Given the description of an element on the screen output the (x, y) to click on. 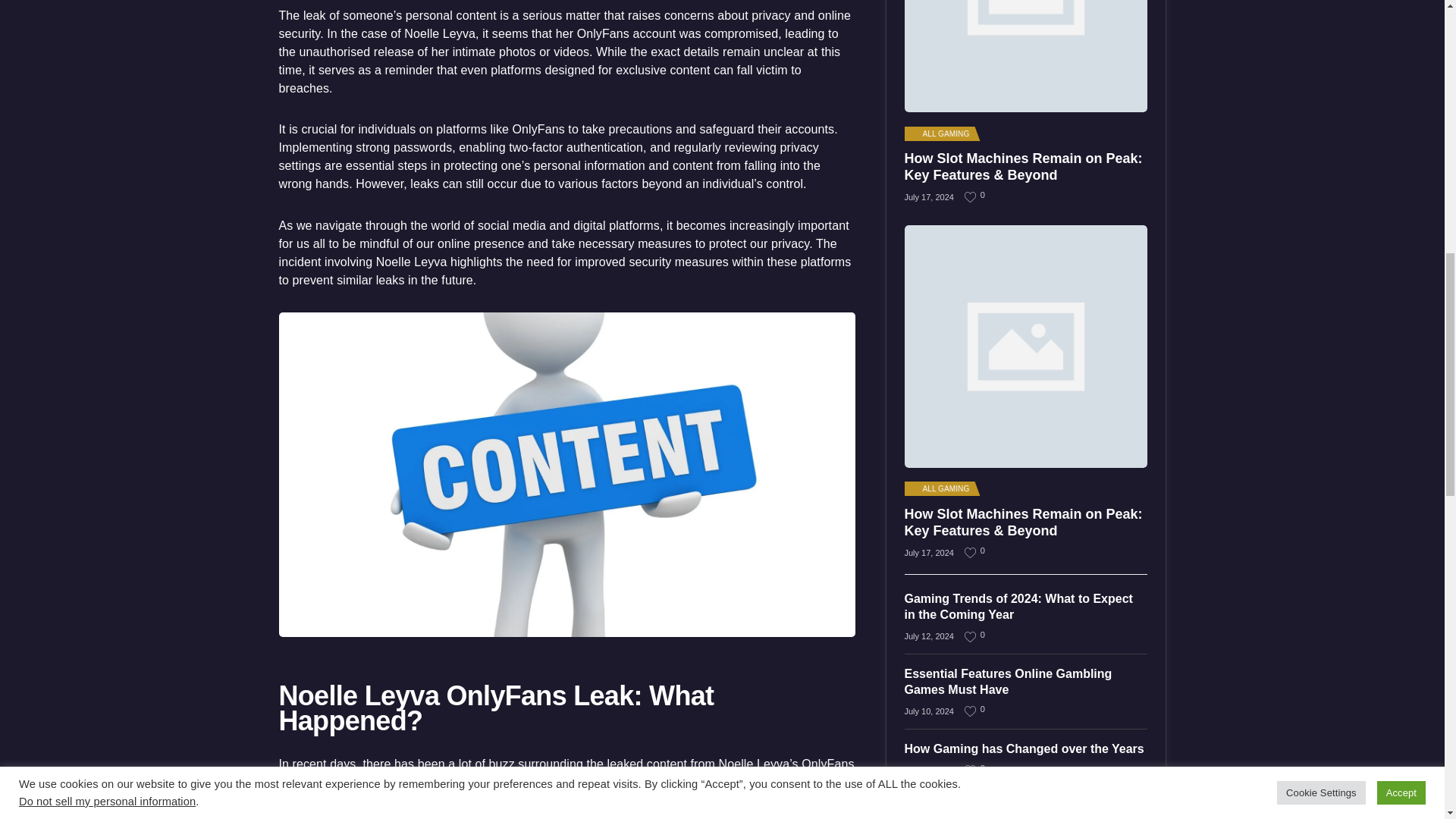
Like (971, 636)
View all posts in All Gaming (940, 489)
Like (971, 769)
Like (971, 710)
Like (971, 196)
View all posts in All Gaming (940, 134)
Like (971, 552)
